Given the description of an element on the screen output the (x, y) to click on. 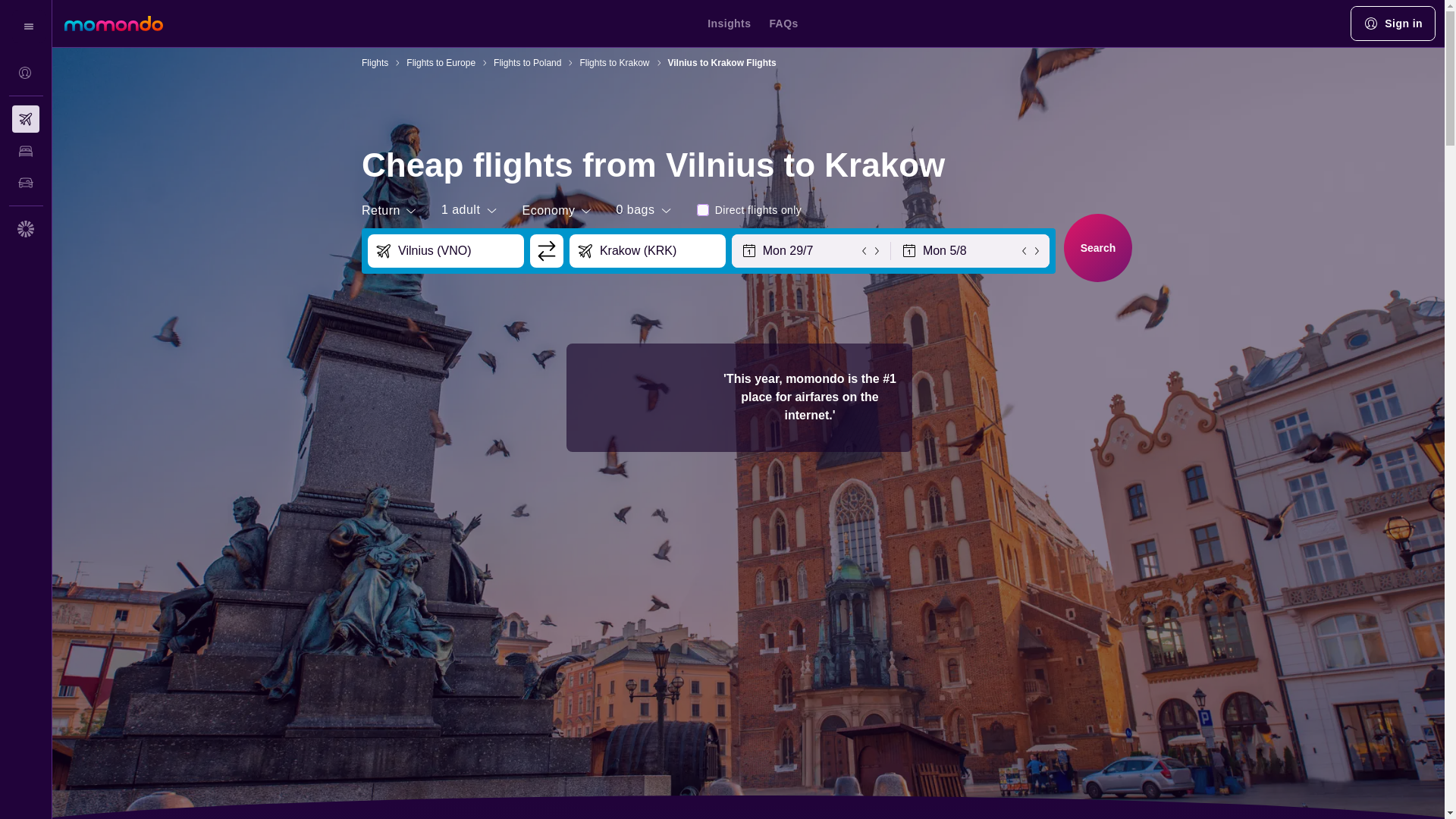
Flights to Europe (441, 62)
Flights to Poland (526, 62)
Search (1095, 245)
Flights to Krakow (614, 62)
Flights (374, 62)
Search (1098, 247)
